Given the description of an element on the screen output the (x, y) to click on. 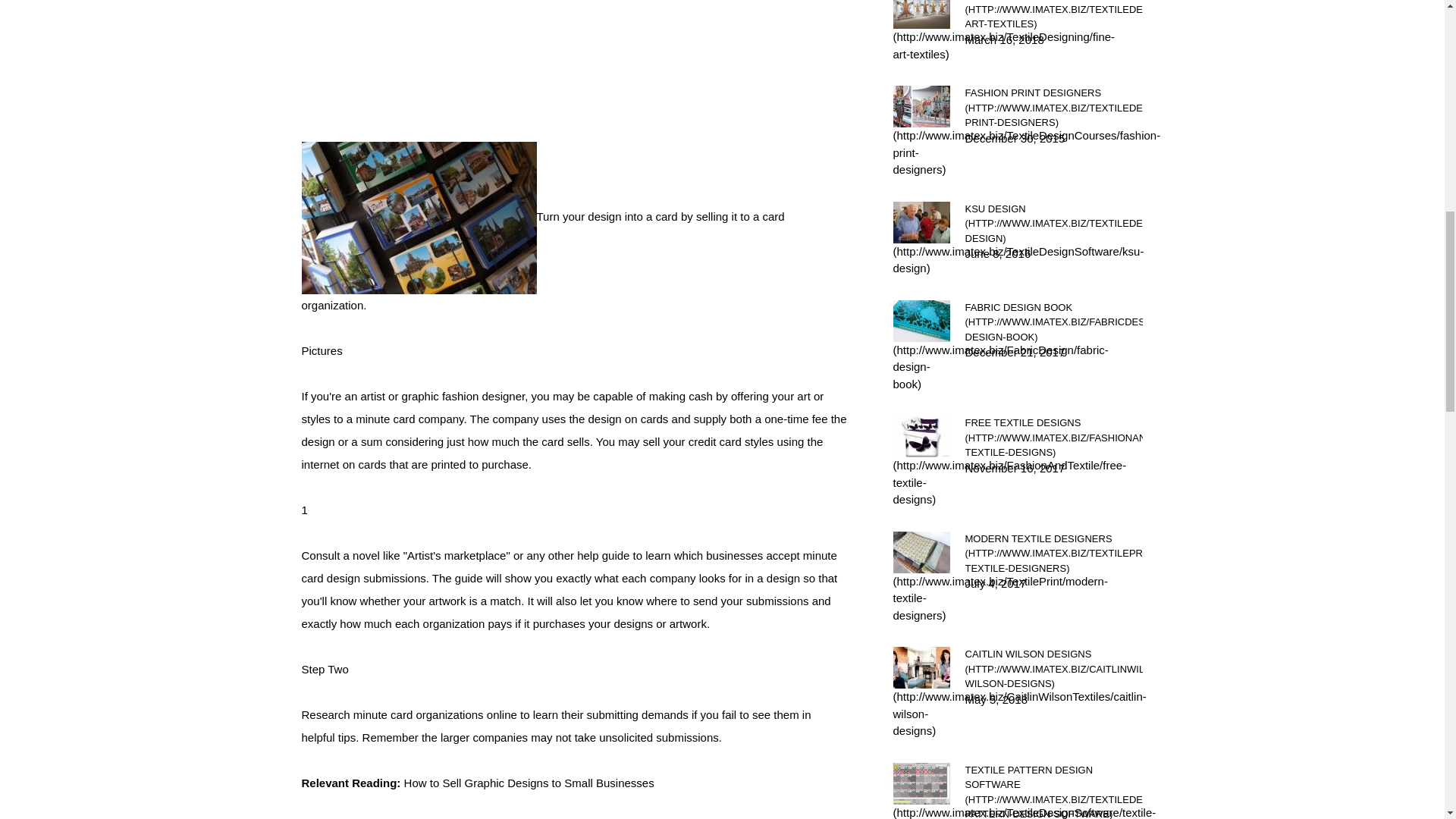
FASHION PRINT DESIGNERS (1052, 107)
FINE ART TEXTILES (1052, 15)
Advertisement (574, 68)
TEXTILE PATTERN DESIGN SOFTWARE (1052, 790)
MODERN TEXTILE DESIGNERS (1052, 552)
CAITLIN WILSON DESIGNS (1052, 669)
KSU DESIGN (1052, 223)
FABRIC DESIGN BOOK (1052, 322)
FREE TEXTILE DESIGNS (1052, 437)
